Given the description of an element on the screen output the (x, y) to click on. 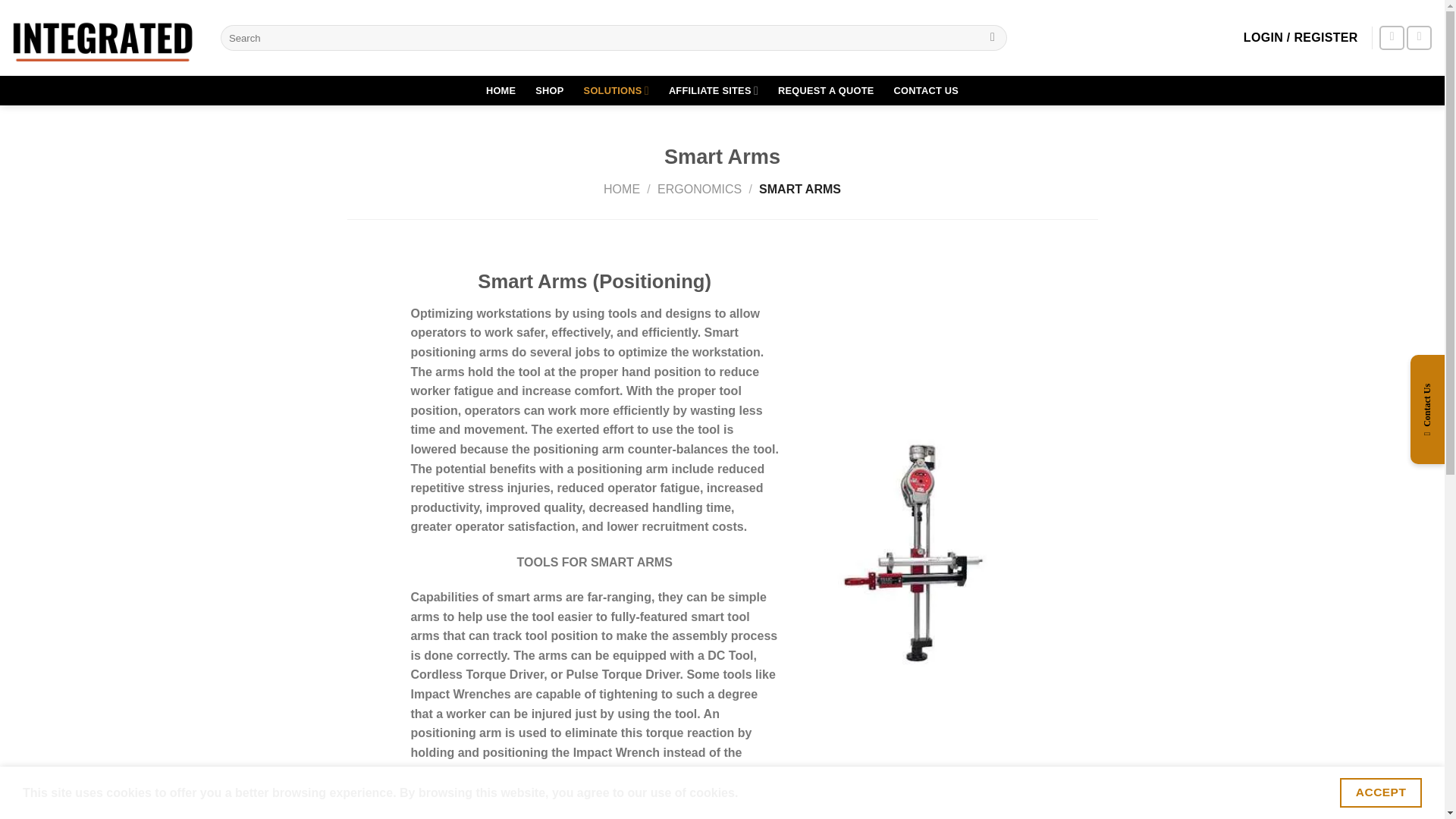
HOME (500, 90)
SOLUTIONS (616, 90)
Send us an email (1391, 37)
SHOP (549, 90)
Login (1300, 37)
Search (992, 37)
Follow on LinkedIn (1418, 37)
